Given the description of an element on the screen output the (x, y) to click on. 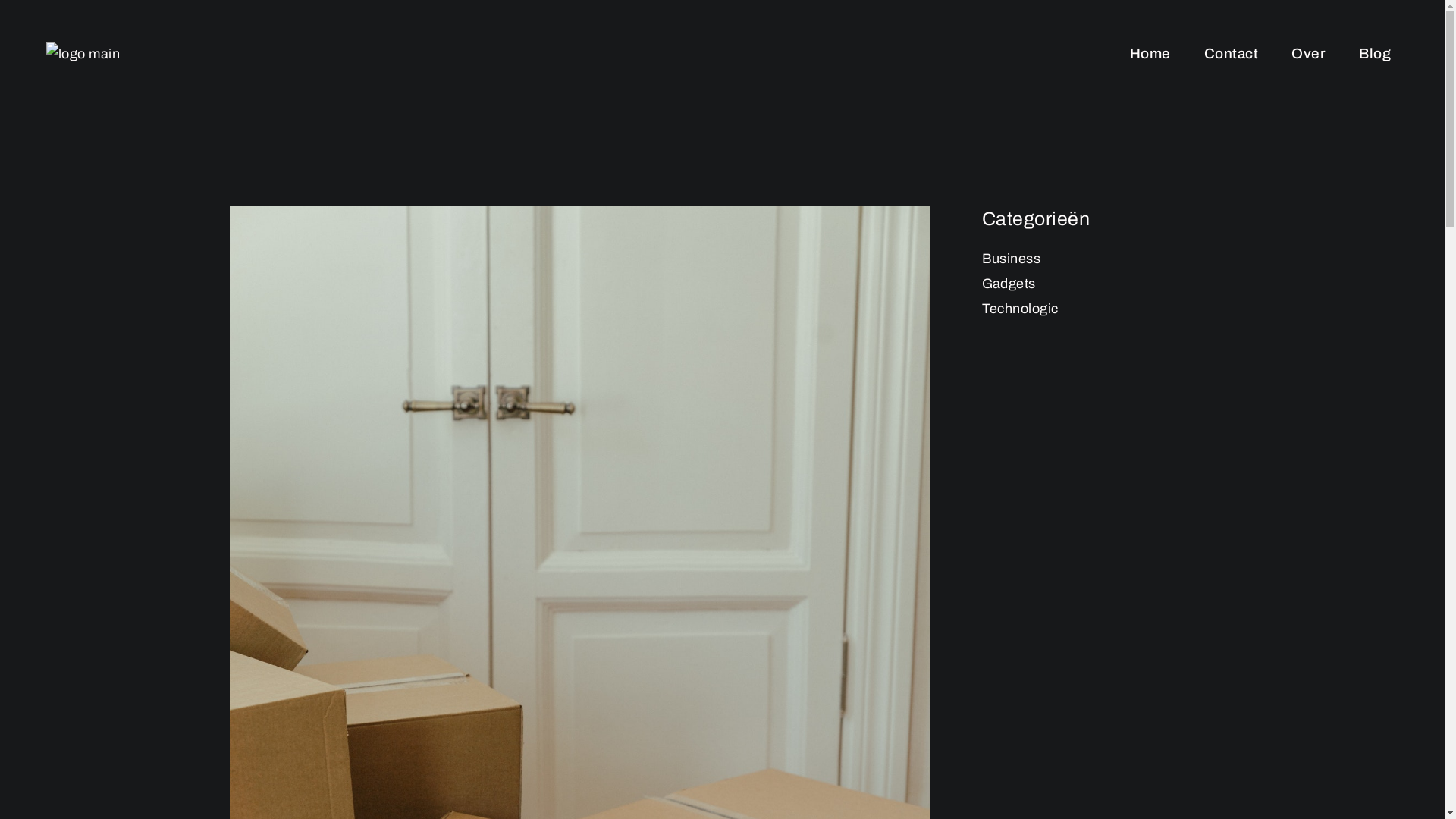
Over Element type: text (1308, 53)
Contact Element type: text (1230, 53)
Technologic Element type: text (1019, 308)
Gadgets Element type: text (1008, 283)
Blog Element type: text (1374, 53)
Home Element type: text (1150, 53)
Business Element type: text (1010, 258)
